Given the description of an element on the screen output the (x, y) to click on. 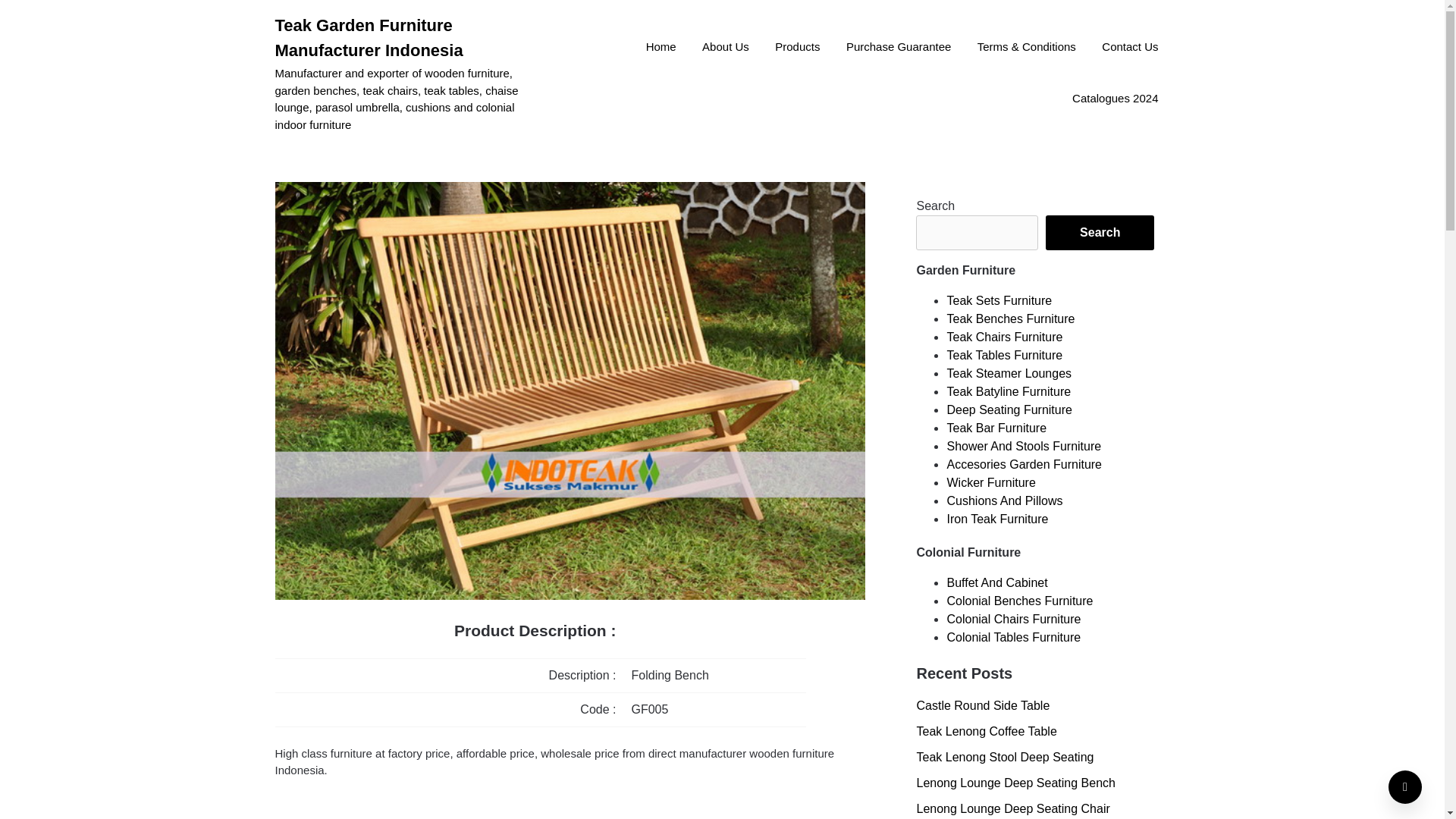
Contact Us (1129, 47)
About Us (725, 47)
To Top (1405, 786)
Home (660, 47)
Products (796, 47)
Catalogues 2024 (1115, 98)
Purchase Guarantee (898, 47)
Teak Garden Furniture Manufacturer Indonesia (409, 38)
